Given the description of an element on the screen output the (x, y) to click on. 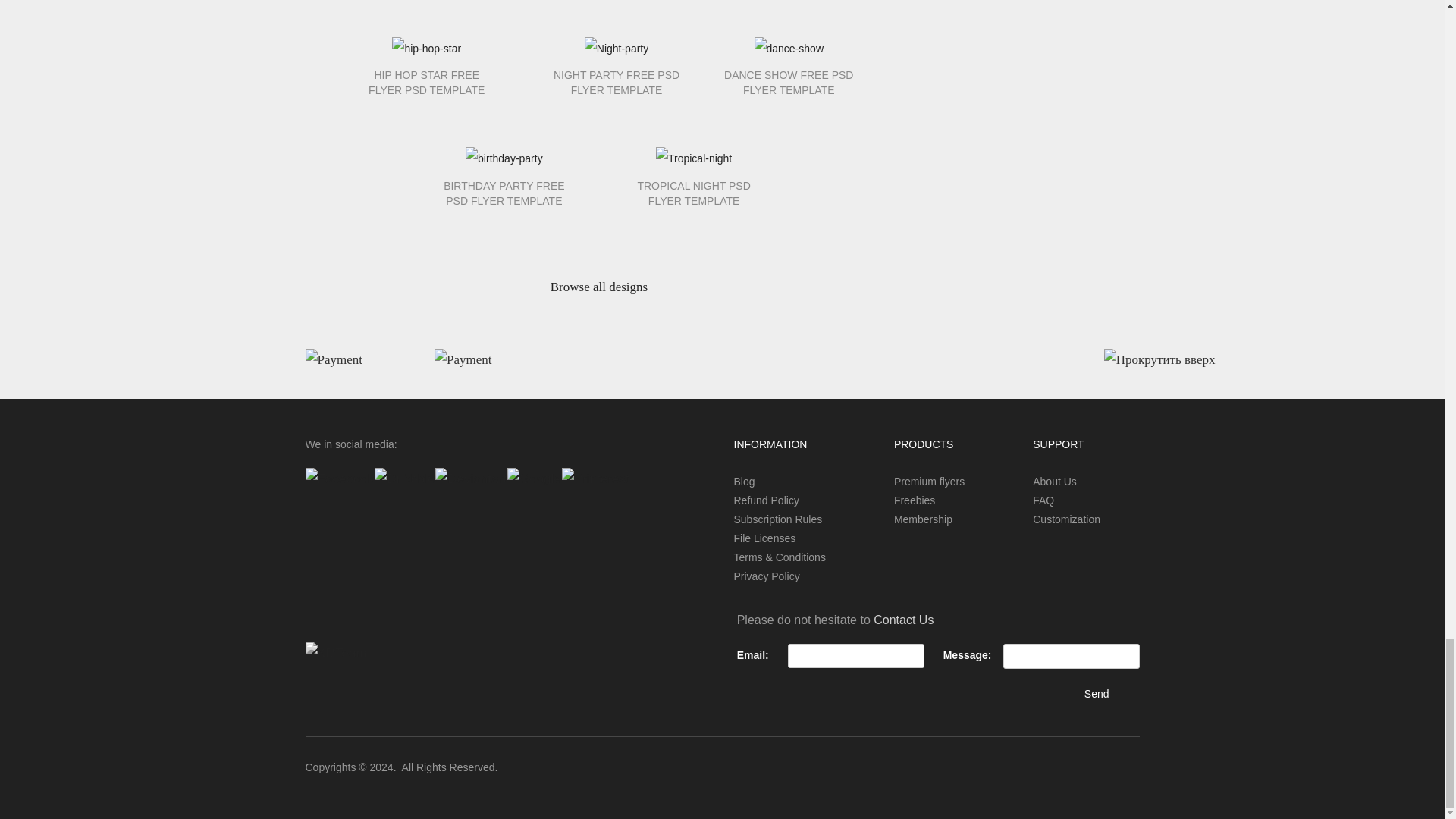
Dance Show FREE PSD Flyer Template (788, 80)
Hip Hop Star FREE Flyer PSD Template (426, 80)
Send (1097, 694)
Night Party FREE PSD Flyer Template (616, 80)
Birthday Party FREE PSD Flyer Template (503, 190)
